Given the description of an element on the screen output the (x, y) to click on. 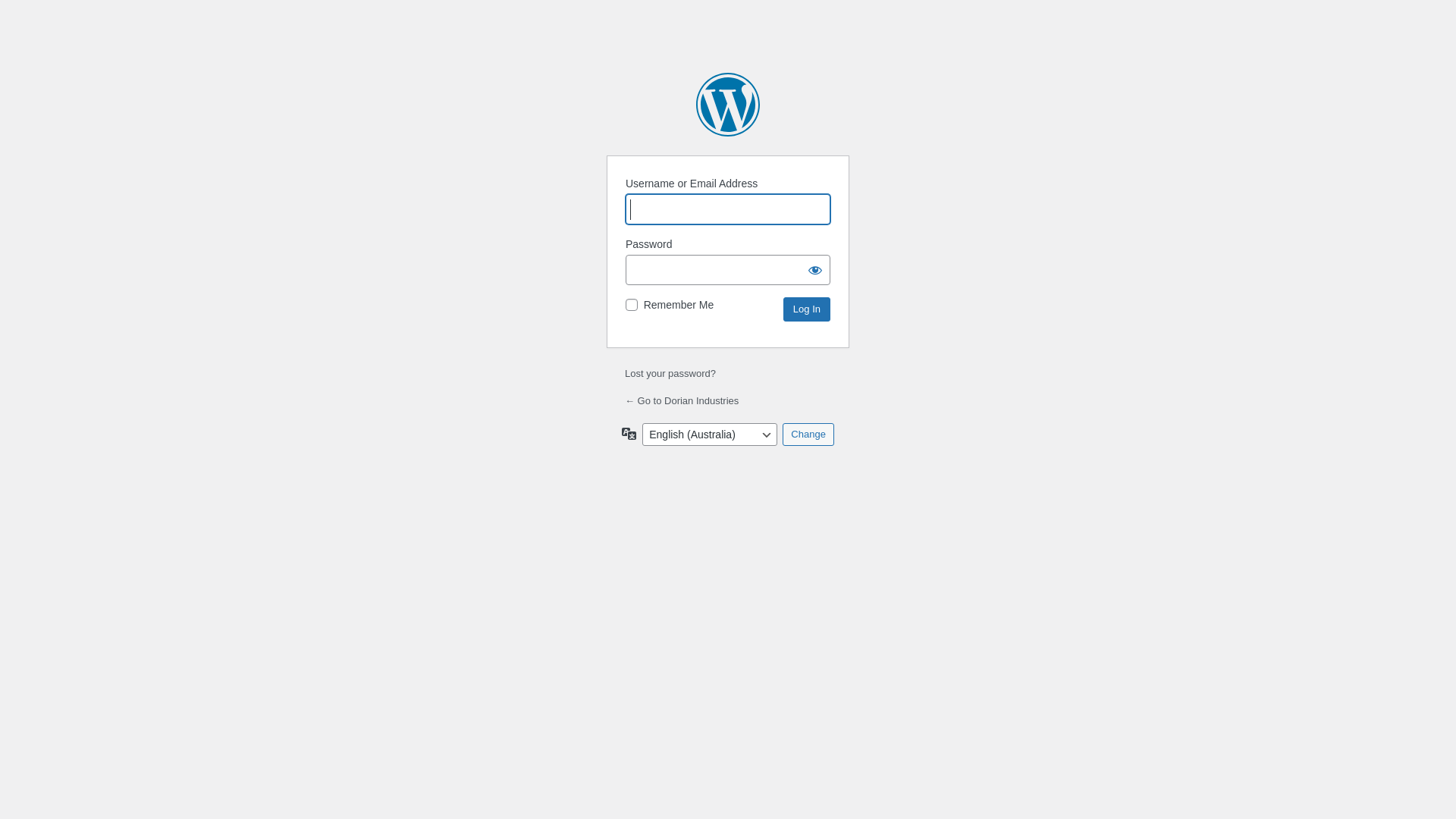
Powered by WordPress Element type: text (727, 104)
Change Element type: text (808, 434)
Lost your password? Element type: text (669, 373)
Log In Element type: text (806, 309)
